Given the description of an element on the screen output the (x, y) to click on. 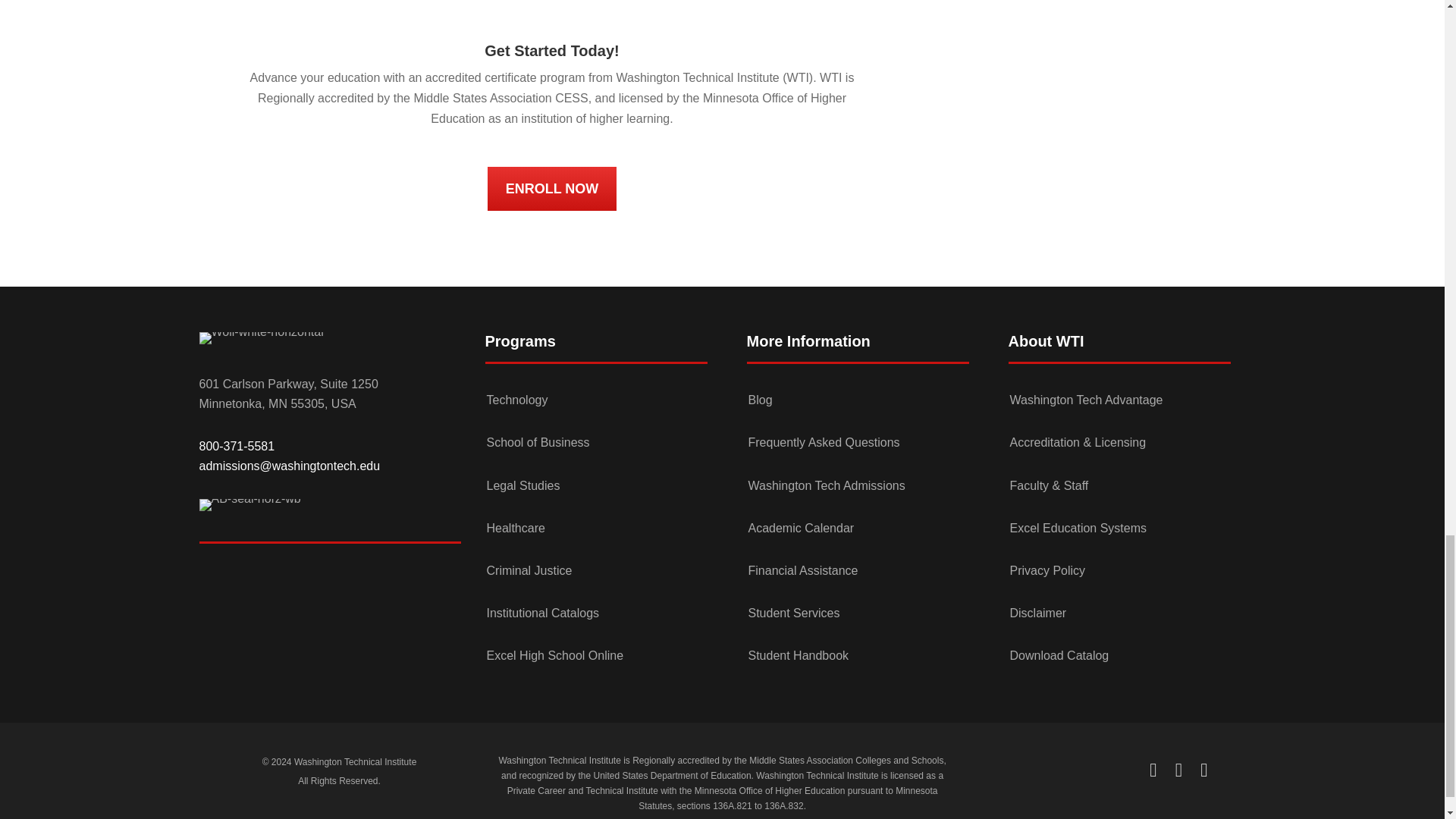
AB-seal-horz-wb (248, 504)
Woli-white-horizontal (260, 337)
